Given the description of an element on the screen output the (x, y) to click on. 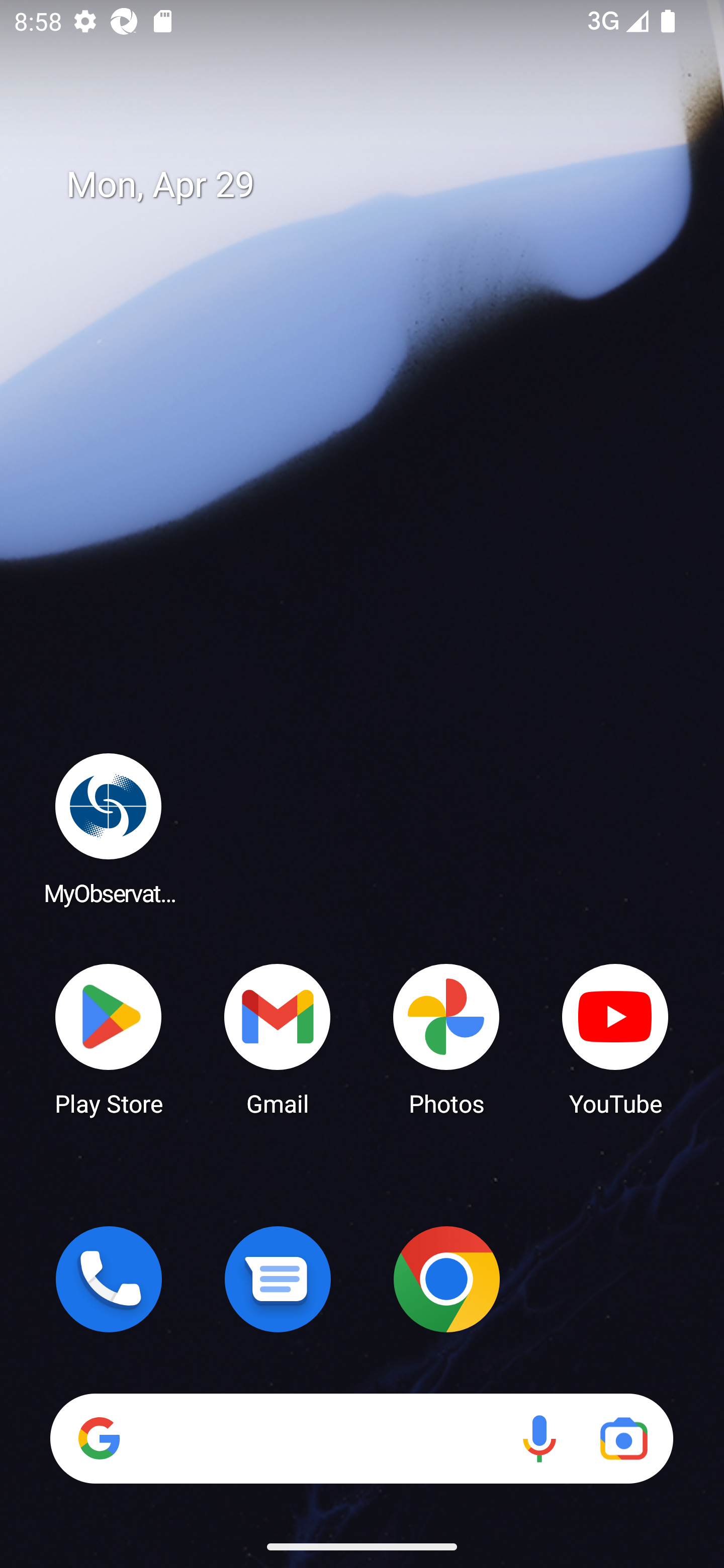
Mon, Apr 29 (375, 184)
MyObservatory (108, 828)
Play Store (108, 1038)
Gmail (277, 1038)
Photos (445, 1038)
YouTube (615, 1038)
Phone (108, 1279)
Messages (277, 1279)
Chrome (446, 1279)
Voice search (539, 1438)
Google Lens (623, 1438)
